Given the description of an element on the screen output the (x, y) to click on. 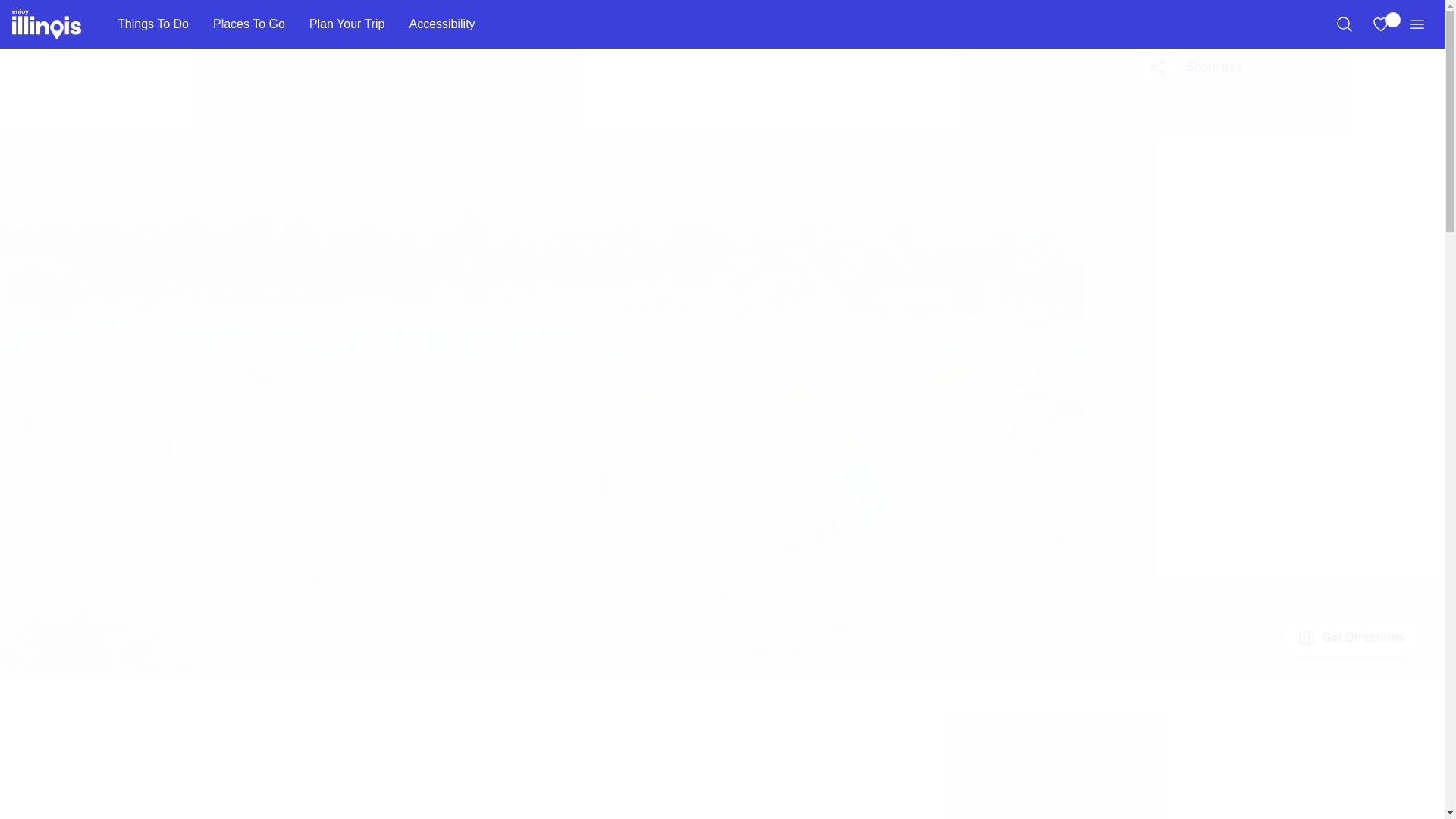
View My Favorites (1380, 24)
Things To Do (152, 24)
Accessibility (441, 24)
Places To Go (248, 24)
Search the Site (1344, 24)
Menu (1417, 24)
Plan Your Trip (347, 24)
